Given the description of an element on the screen output the (x, y) to click on. 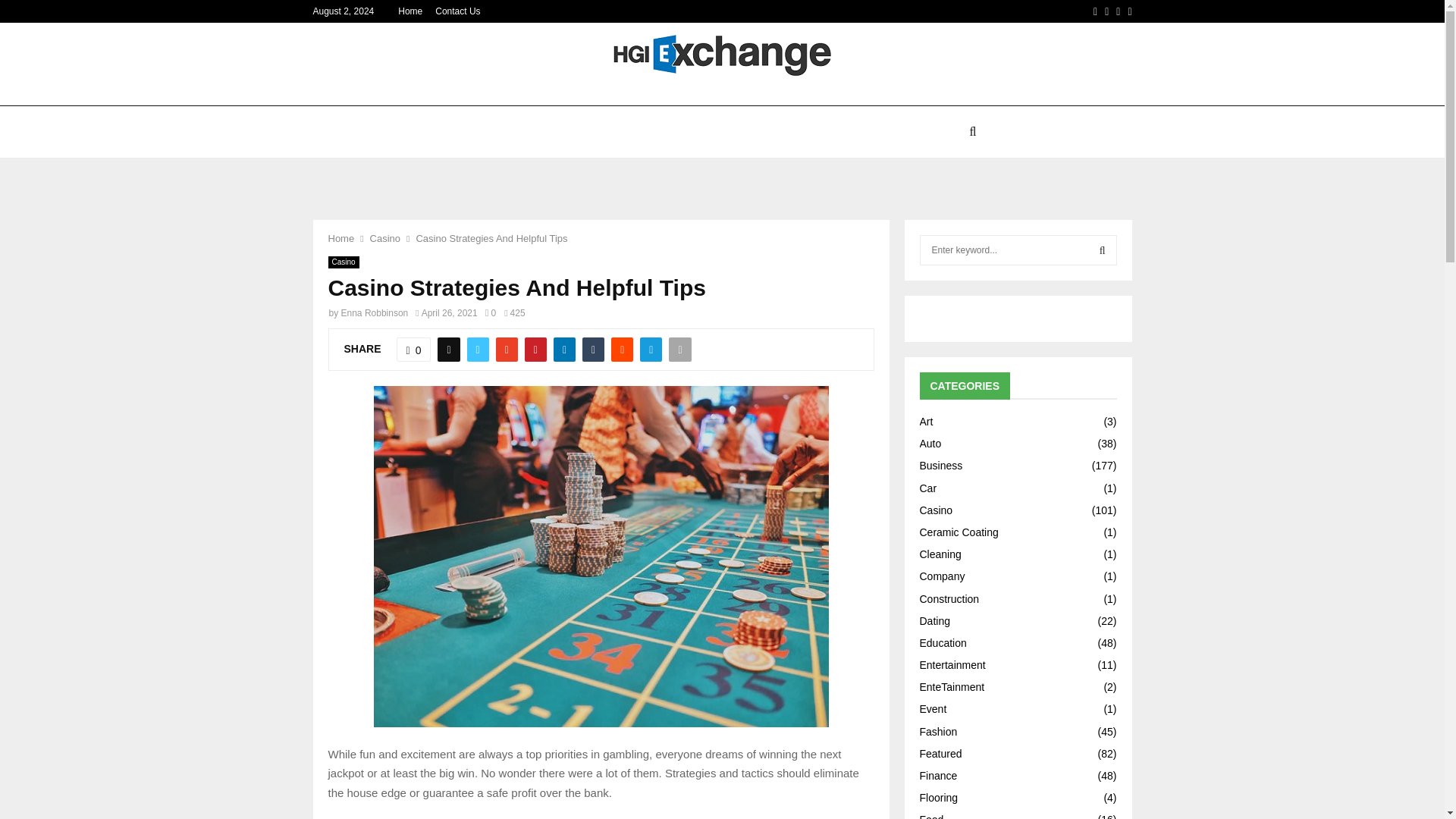
Home (340, 238)
Enna Robbinson (374, 312)
0 (490, 312)
BUSINESS (852, 131)
Contact Us (457, 11)
Like (413, 349)
Casino (342, 262)
0 (413, 349)
Home (409, 11)
Casino Strategies And Helpful Tips (490, 238)
SECURITY (926, 131)
Casino (384, 238)
EDUCATION (659, 131)
